Given the description of an element on the screen output the (x, y) to click on. 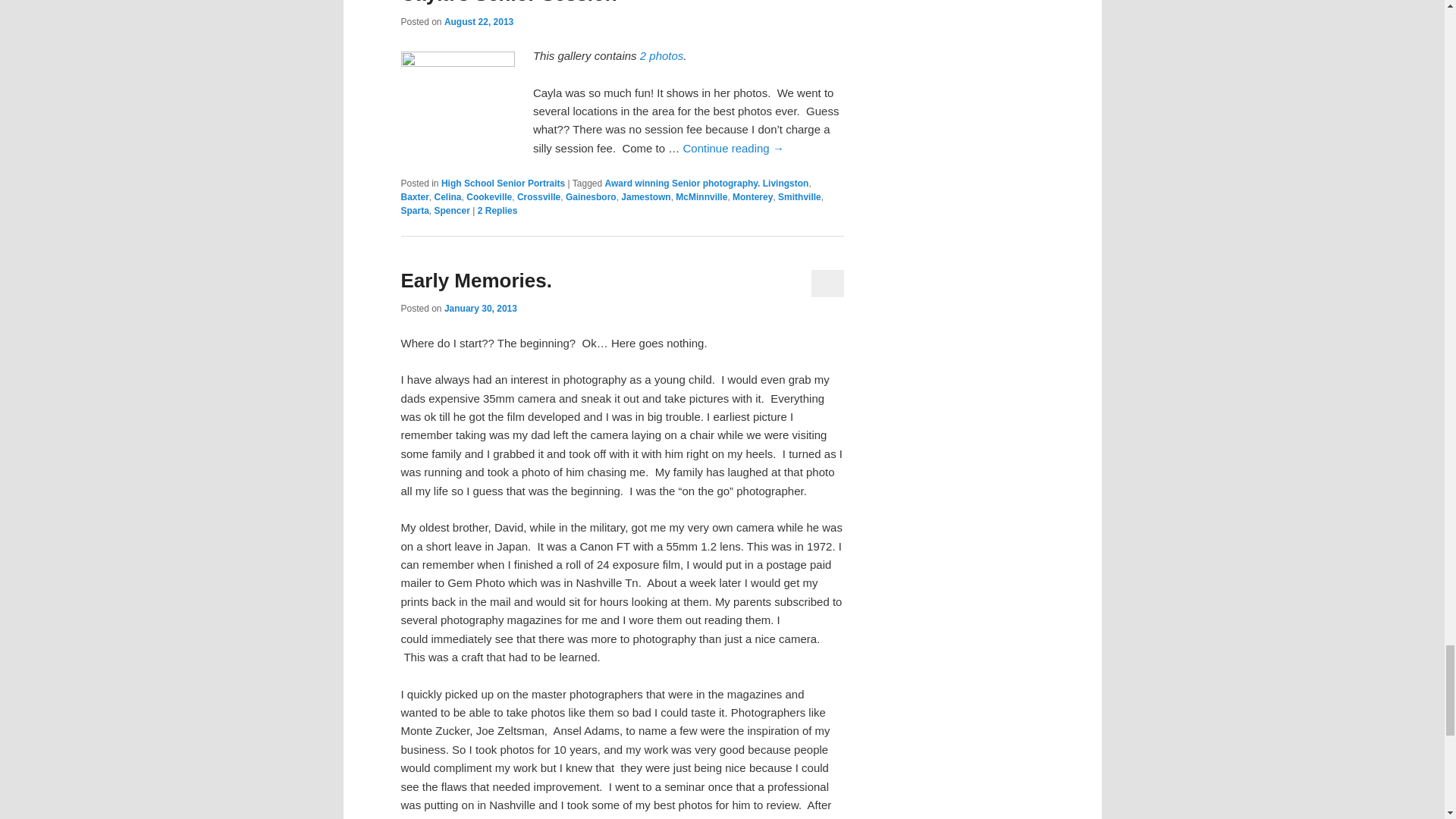
Spencer (451, 210)
Baxter (414, 196)
Gainesboro (590, 196)
4:58 pm (480, 308)
Award winning Senior photography. Livingston (707, 183)
August 22, 2013 (478, 21)
Smithville (799, 196)
High School Senior Portraits (502, 183)
12:31 pm (478, 21)
McMinnville (700, 196)
